Given the description of an element on the screen output the (x, y) to click on. 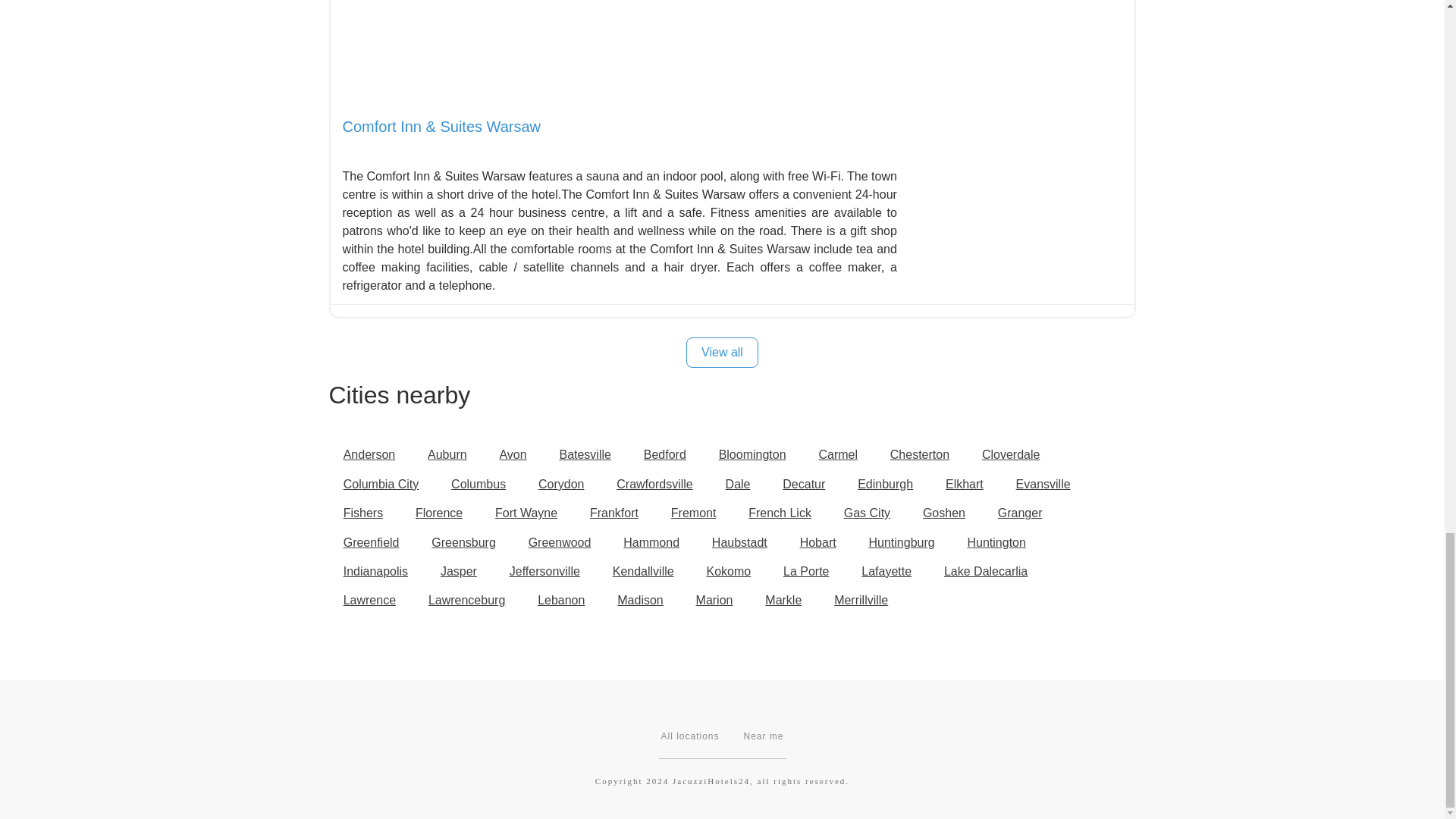
Florence (439, 512)
Fremont (693, 512)
Edinburgh (885, 484)
Elkhart (964, 484)
Anderson (369, 454)
Evansville (1042, 484)
Corydon (561, 484)
Auburn (447, 454)
Fort Wayne (526, 512)
Crawfordsville (654, 484)
Bedford (664, 454)
French Lick (779, 512)
Fishers (363, 512)
Frankfort (613, 512)
Columbia City (381, 484)
